Given the description of an element on the screen output the (x, y) to click on. 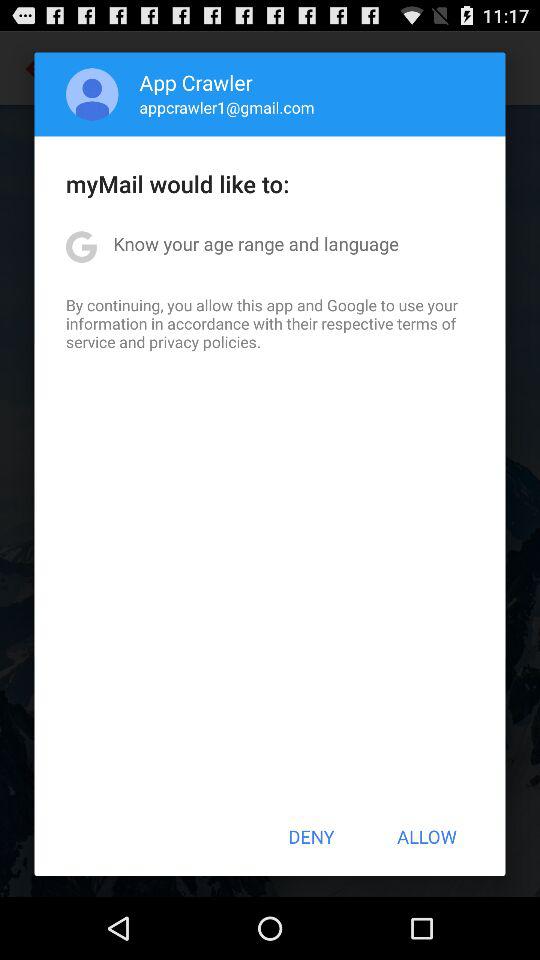
press the appcrawler1@gmail.com item (226, 107)
